Given the description of an element on the screen output the (x, y) to click on. 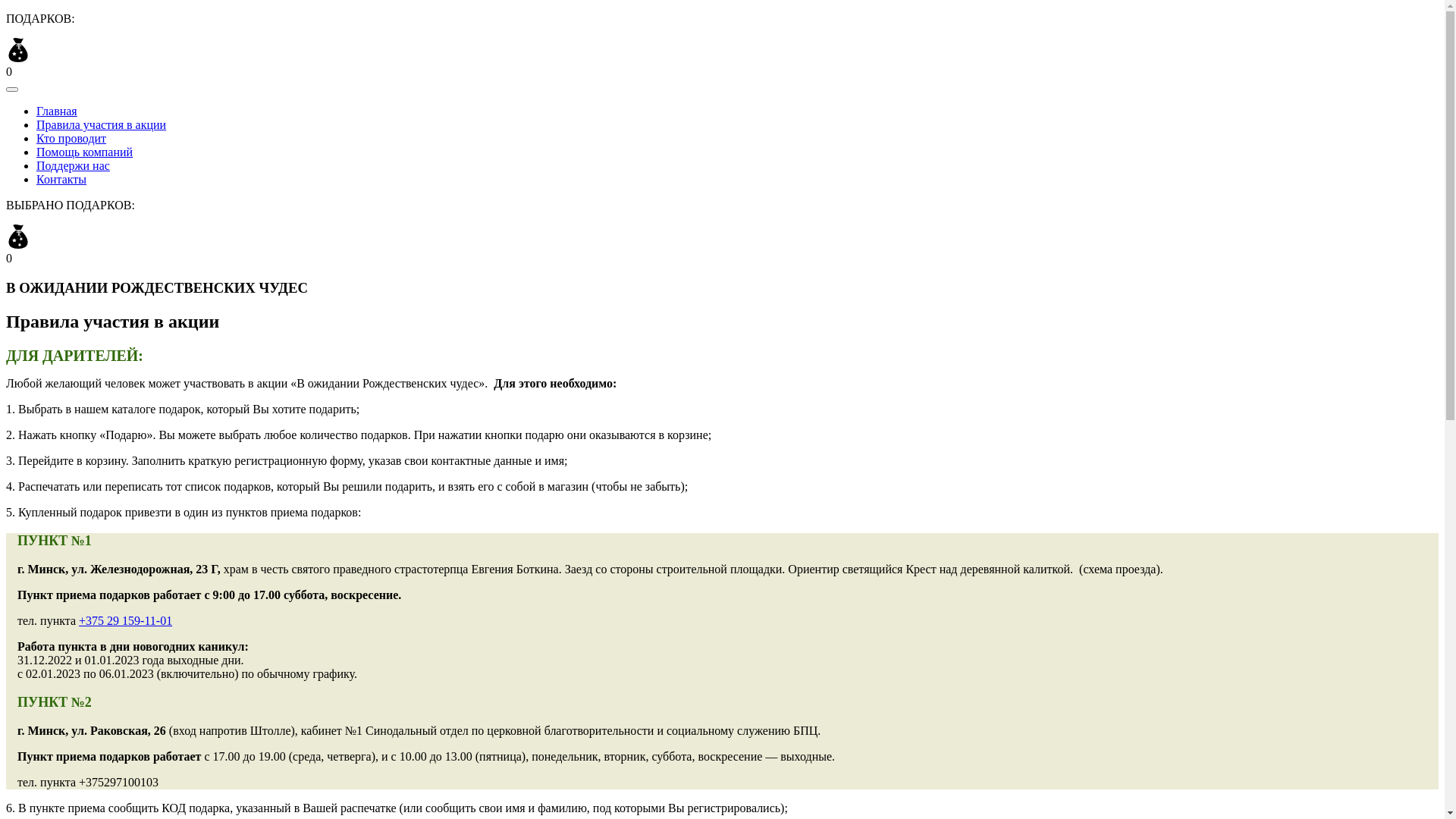
+375 29 159-11-01 Element type: text (125, 620)
